Given the description of an element on the screen output the (x, y) to click on. 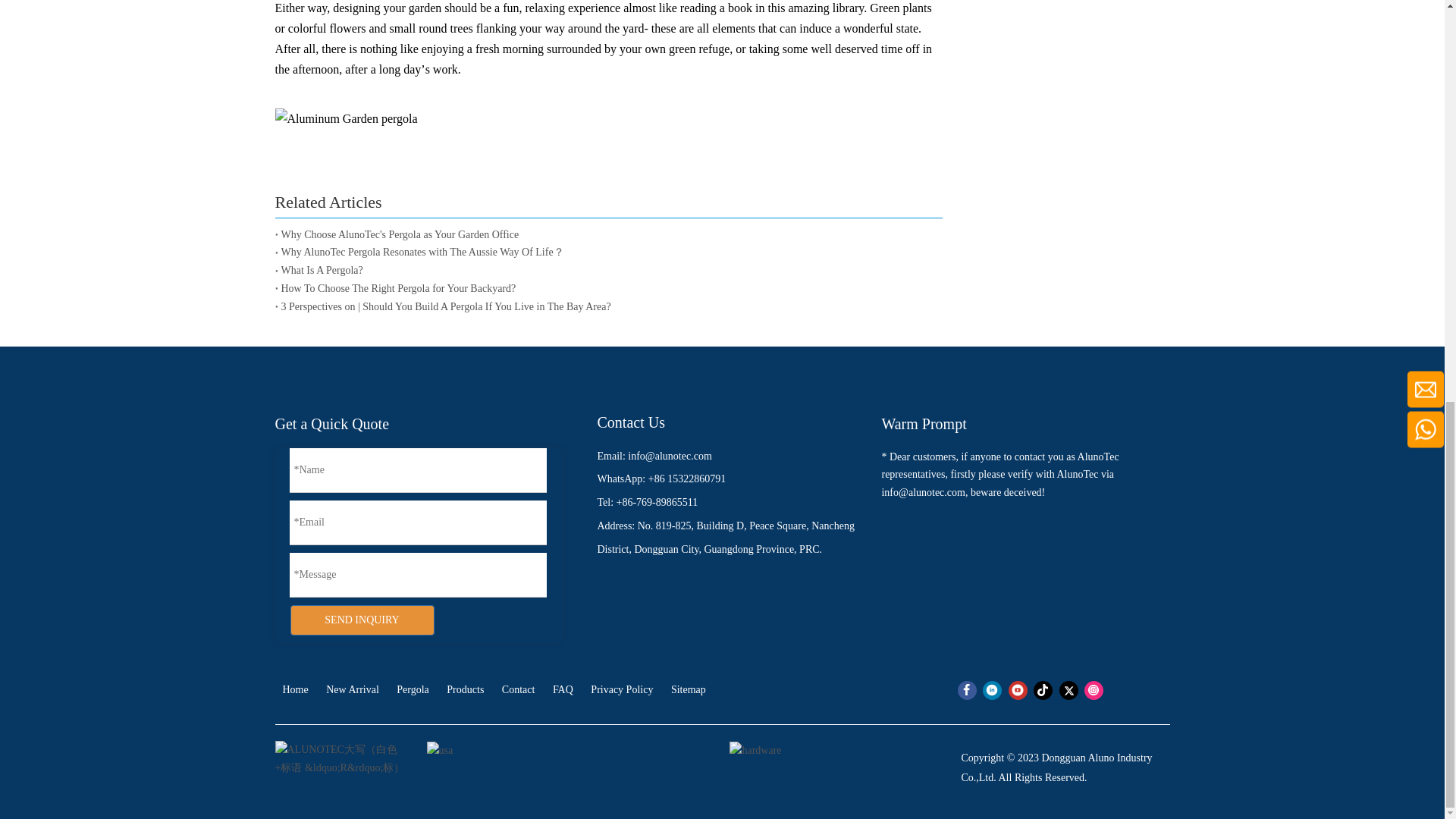
How To Choose The Right Pergola for Your Backyard? (608, 289)
What Is A Pergola? (608, 270)
Aluminum Garden pergola (345, 118)
Why Choose AlunoTec's Pergola as Your Garden Office (608, 235)
